Given the description of an element on the screen output the (x, y) to click on. 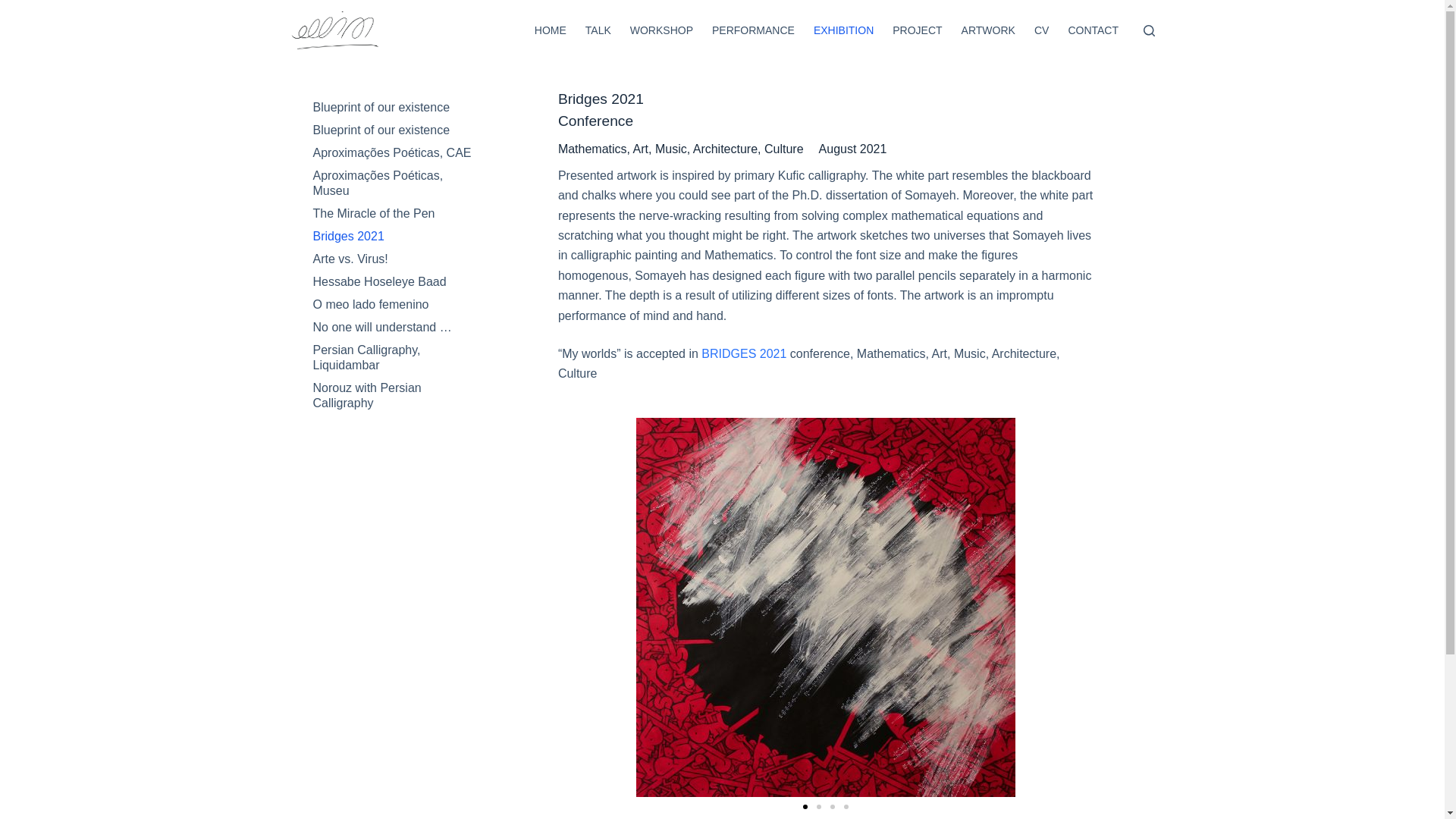
PERFORMANCE (752, 30)
Skip to content (15, 7)
Hessabe Hoseleye Baad (393, 282)
Blueprint of our existence (393, 129)
The Miracle of the Pen (393, 213)
WORKSHOP (660, 30)
ARTWORK (988, 30)
PROJECT (917, 30)
CONTACT (1093, 30)
Norouz with Persian Calligraphy (393, 395)
